Given the description of an element on the screen output the (x, y) to click on. 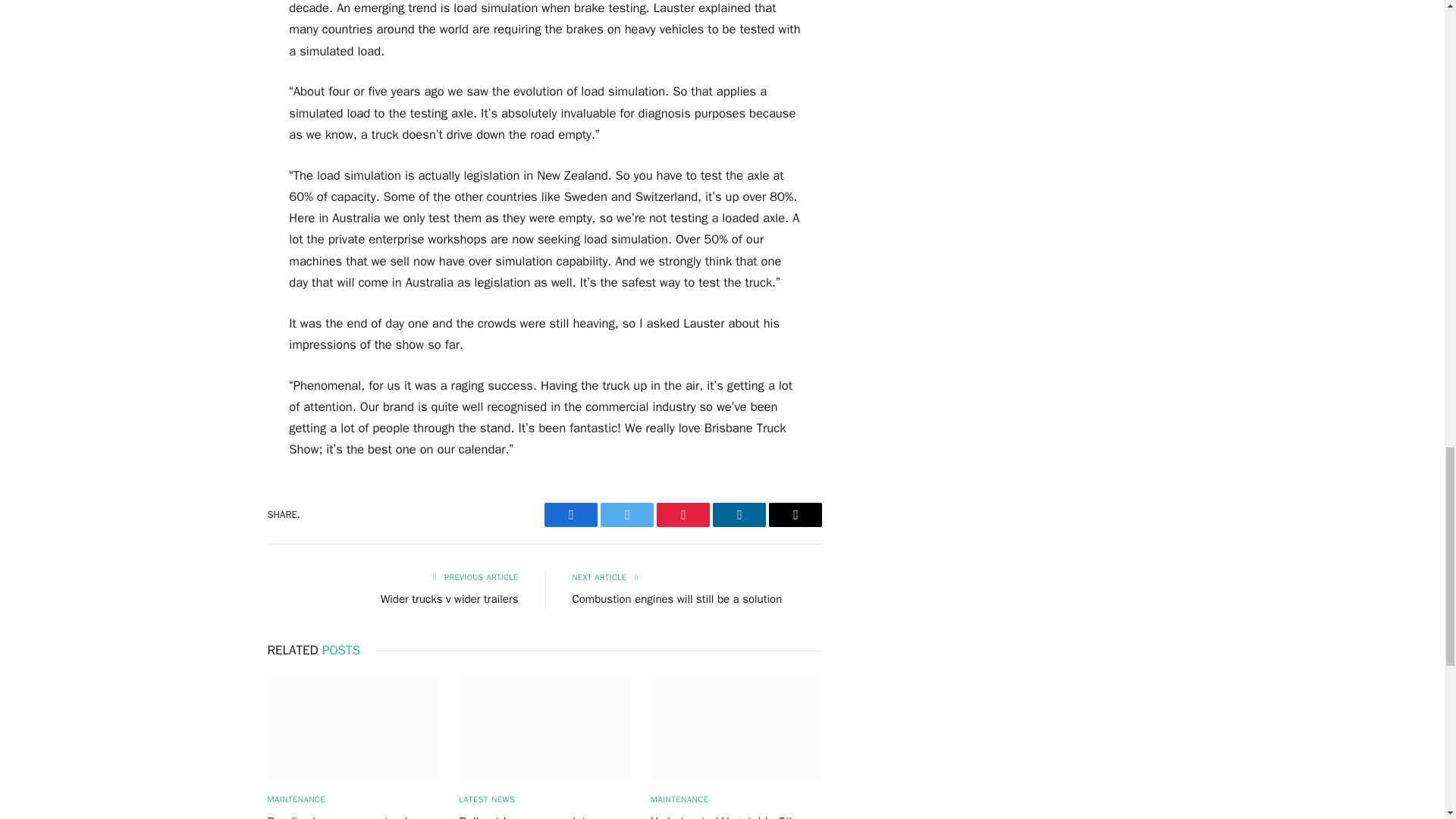
Ballarat Isuzu moves into new 15,000sqm dealership (544, 729)
Share via Email (795, 514)
Share on LinkedIn (739, 514)
Share on Facebook (570, 514)
Bendix shows us rare truck brake dyno (352, 729)
Share on Pinterest (683, 514)
